Given the description of an element on the screen output the (x, y) to click on. 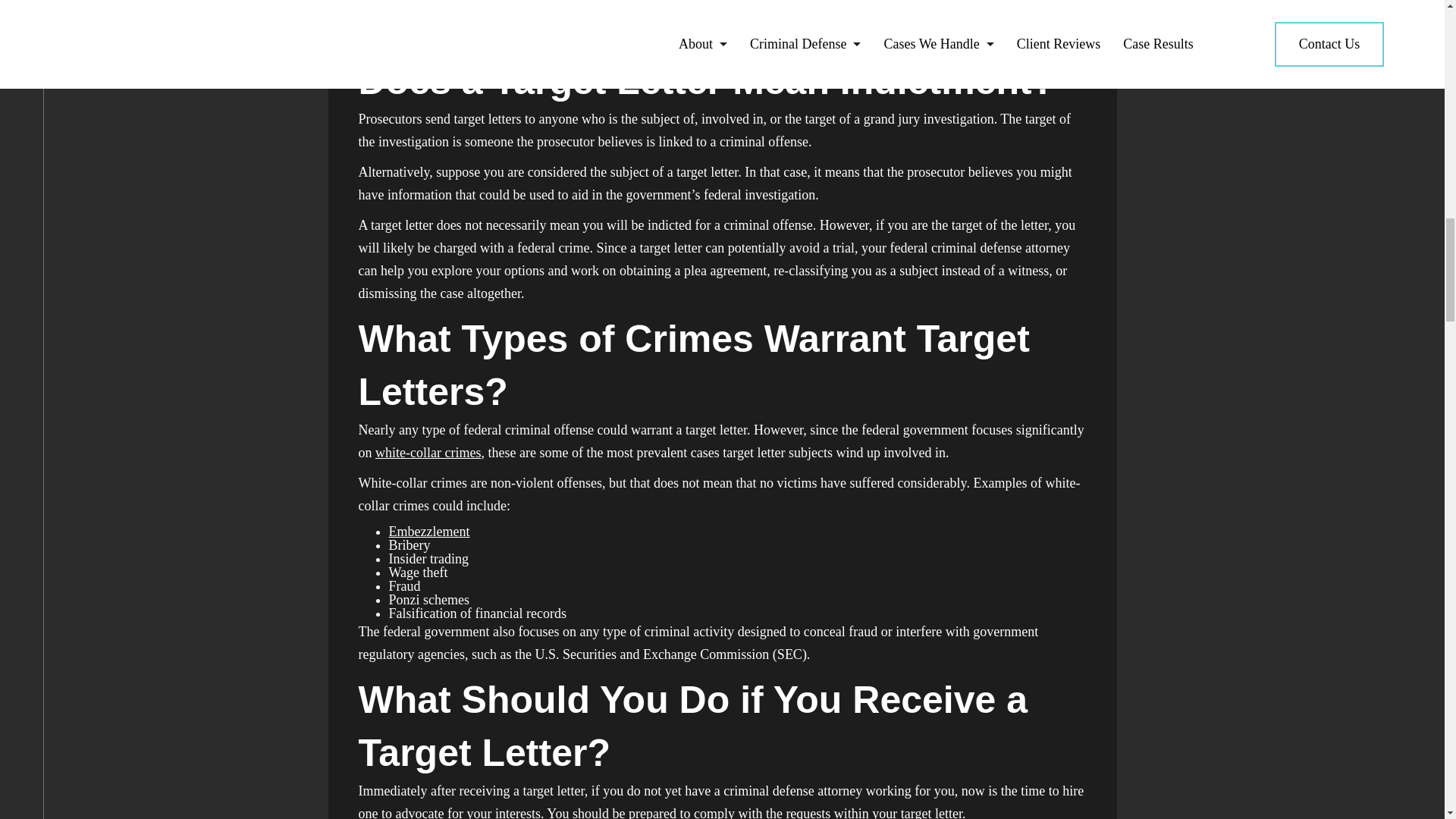
subpoenaed (697, 35)
white-collar crimes (427, 452)
Embezzlement (428, 531)
